Given the description of an element on the screen output the (x, y) to click on. 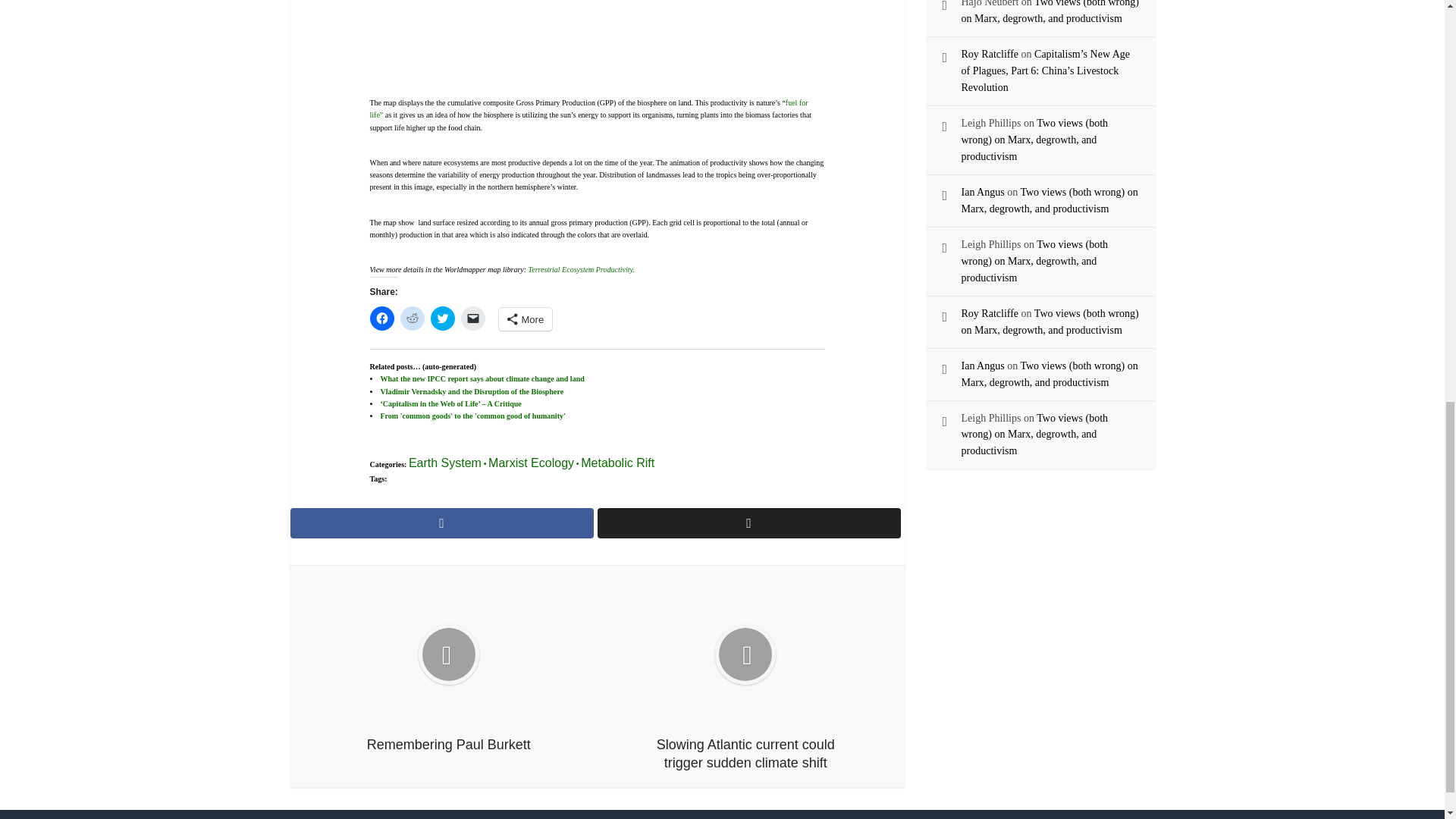
Click to share on Facebook (381, 318)
Click to share on Twitter (442, 318)
Click to share on Reddit (412, 318)
Terrestrial Ecosystem Productivity. (581, 269)
Click to email a link to a friend (472, 318)
